Given the description of an element on the screen output the (x, y) to click on. 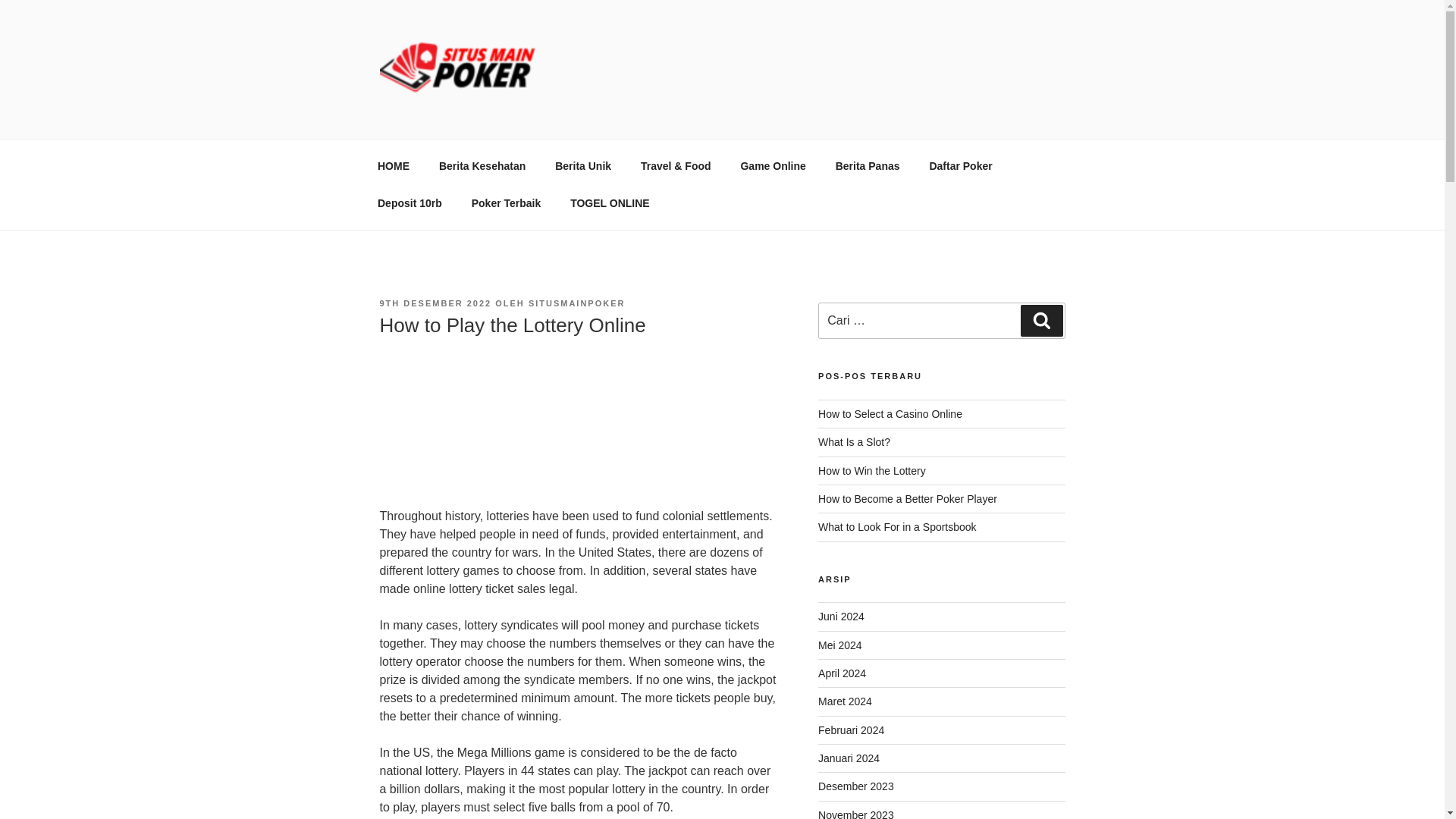
Cari (1041, 320)
Berita Kesehatan (481, 165)
Game Online (772, 165)
SITUSMAINPOKER (577, 302)
Poker Terbaik (506, 203)
What to Look For in a Sportsbook (897, 526)
Berita Panas (867, 165)
Daftar Poker (960, 165)
TOGEL ONLINE (610, 203)
HOME (393, 165)
SITUSMAINPOKER.COM (557, 119)
Juni 2024 (841, 616)
How to Select a Casino Online (890, 413)
How to Win the Lottery (872, 470)
April 2024 (842, 673)
